Given the description of an element on the screen output the (x, y) to click on. 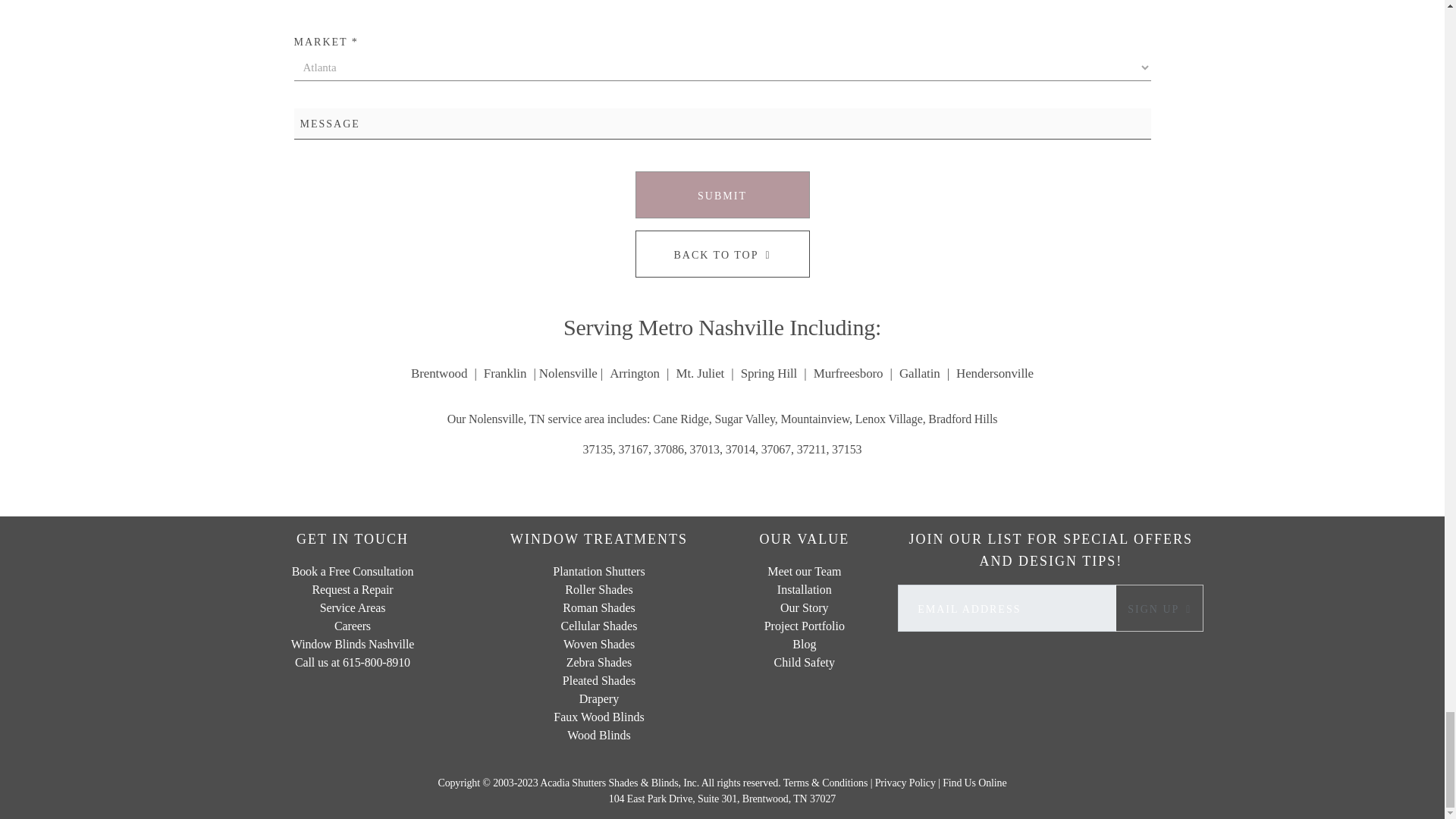
Submit (721, 194)
